Given the description of an element on the screen output the (x, y) to click on. 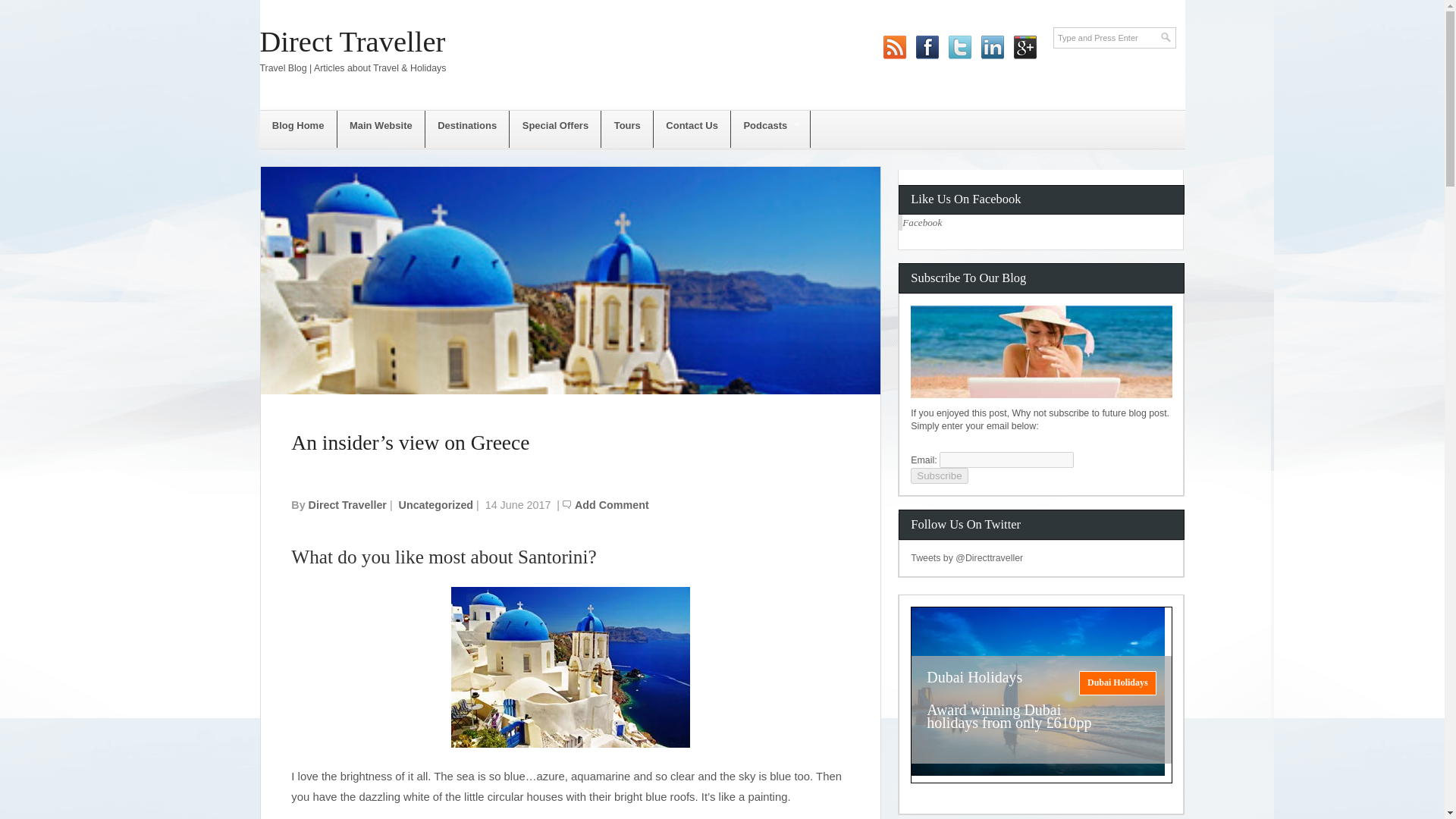
Podcasts (769, 129)
Like us on Facebook (928, 37)
Direct Traveller (352, 41)
Add Comment (612, 504)
Subscribe to rss feed (894, 37)
Blog Home (297, 129)
Main Website (381, 129)
Check out our Linkedin profile (992, 37)
Posts by Direct Traveller (347, 504)
Uncategorized (436, 504)
Direct Traveller (352, 41)
Check out our Google Plus profile (1025, 37)
Direct Traveller (347, 504)
